Given the description of an element on the screen output the (x, y) to click on. 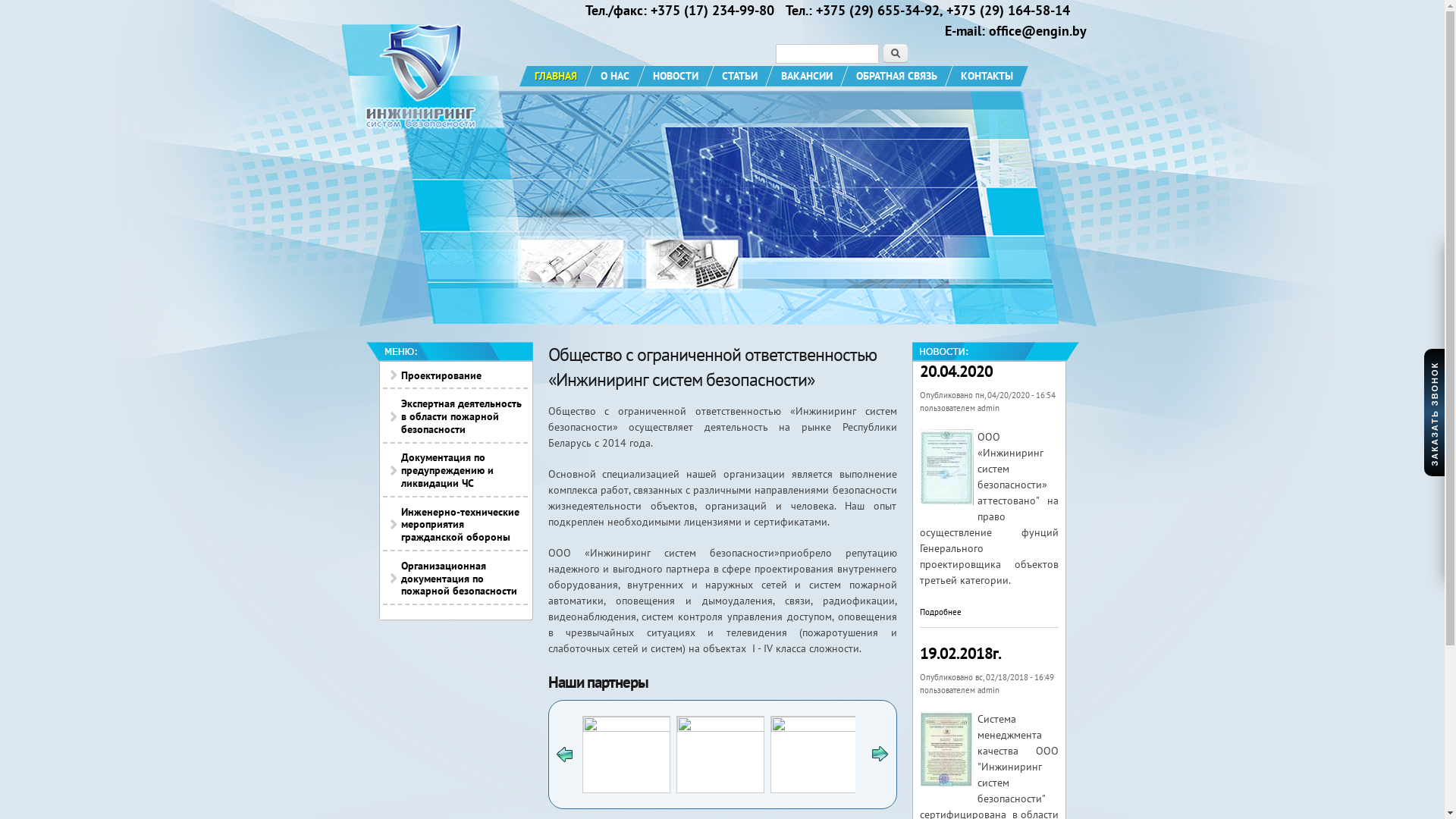
office@engin.by Element type: text (1037, 30)
20.04.2020 Element type: text (955, 370)
